Given the description of an element on the screen output the (x, y) to click on. 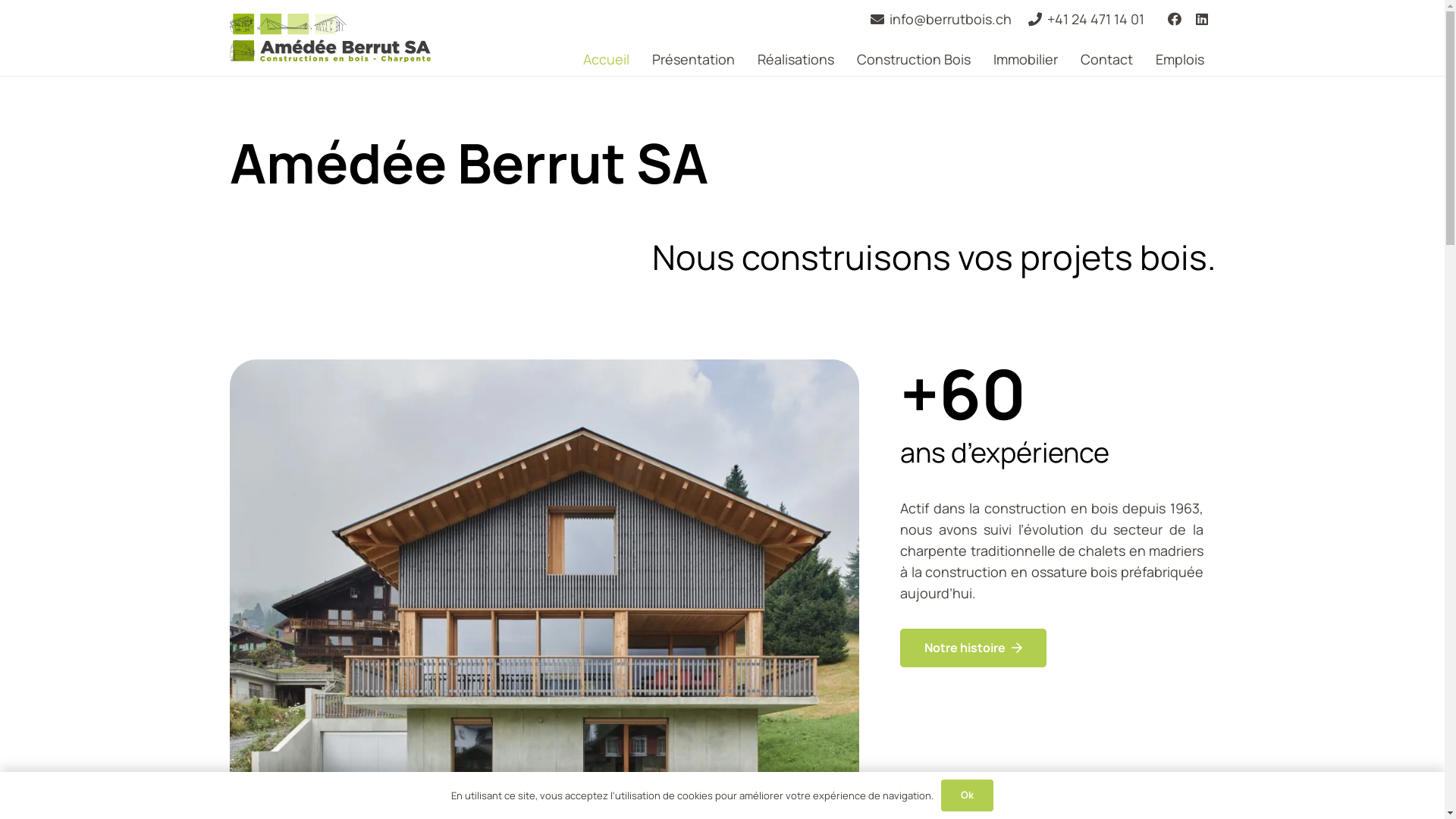
+41 24 471 14 01 Element type: text (1086, 18)
Emplois Element type: text (1179, 59)
Construction Bois Element type: text (913, 59)
LinkedIn Element type: hover (1201, 18)
Ok Element type: text (967, 795)
Notre histoire Element type: text (973, 647)
Contact Element type: text (1106, 59)
Immobilier Element type: text (1025, 59)
Facebook Element type: hover (1174, 18)
info@berrutbois.ch Element type: text (940, 18)
Accueil Element type: text (605, 59)
